Given the description of an element on the screen output the (x, y) to click on. 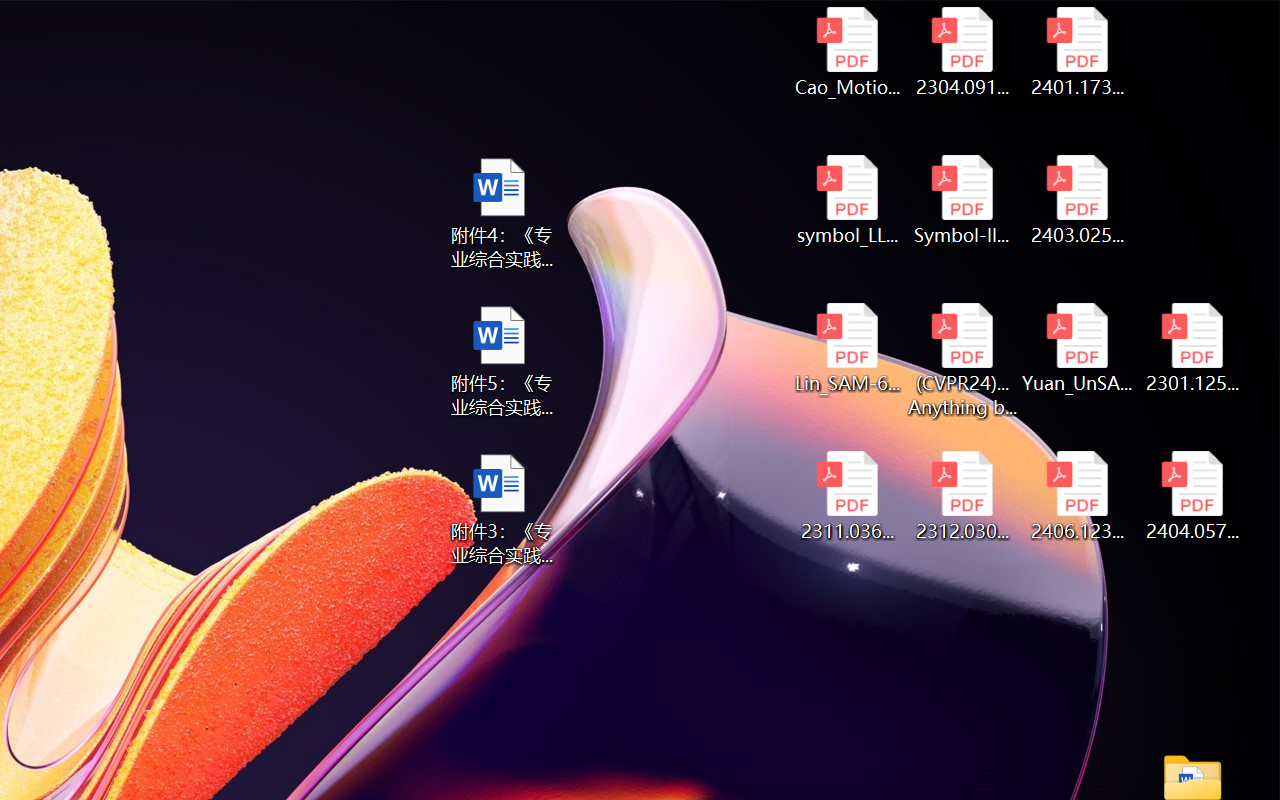
Symbol-llm-v2.pdf (962, 200)
2401.17399v1.pdf (1077, 52)
symbol_LLM.pdf (846, 200)
(CVPR24)Matching Anything by Segmenting Anything.pdf (962, 360)
2403.02502v1.pdf (1077, 200)
2311.03658v2.pdf (846, 496)
2404.05719v1.pdf (1192, 496)
2312.03032v2.pdf (962, 496)
2406.12373v2.pdf (1077, 496)
2304.09121v3.pdf (962, 52)
2301.12597v3.pdf (1192, 348)
